Given the description of an element on the screen output the (x, y) to click on. 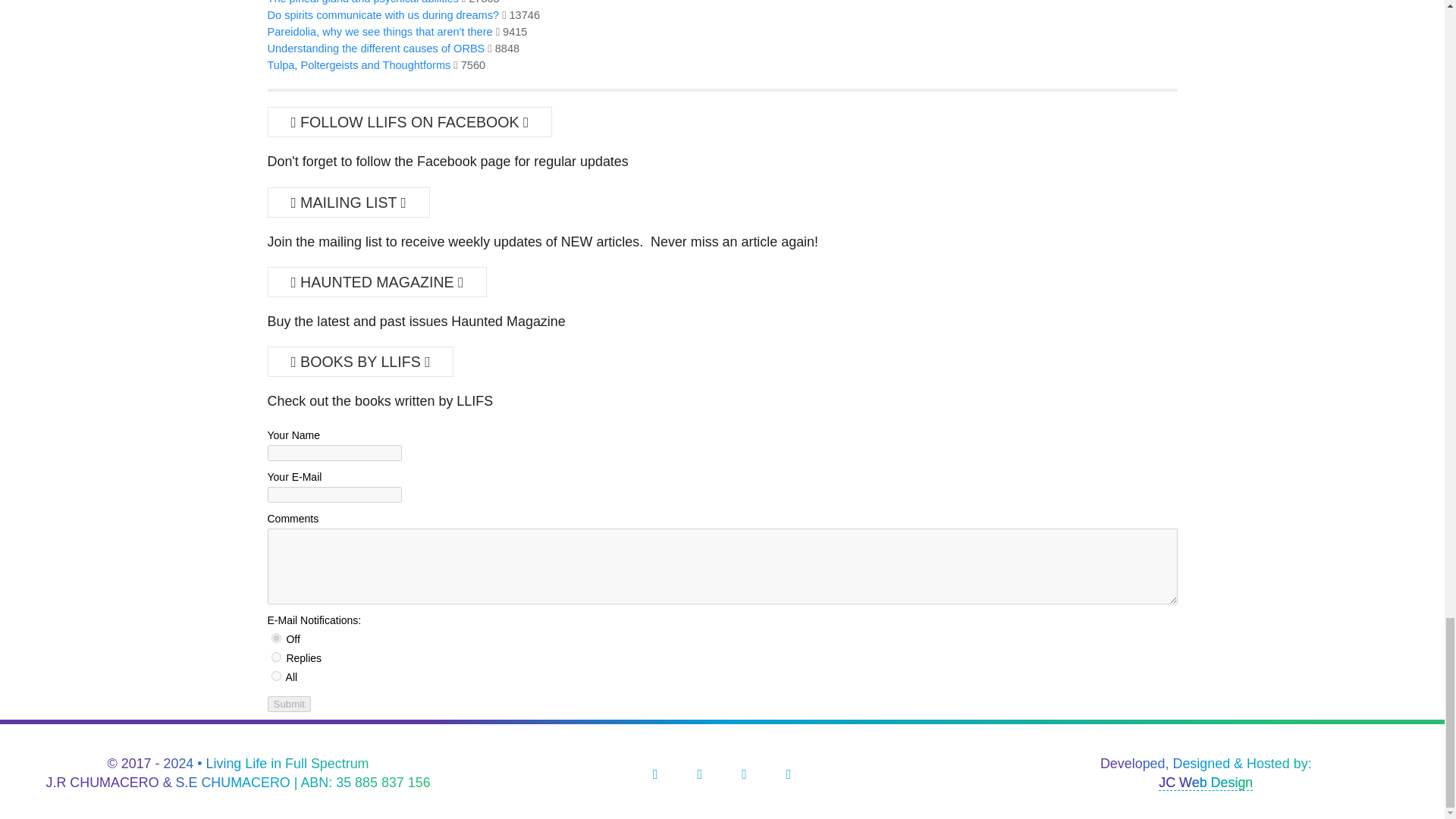
0 (275, 637)
2 (275, 656)
4 (275, 675)
